Given the description of an element on the screen output the (x, y) to click on. 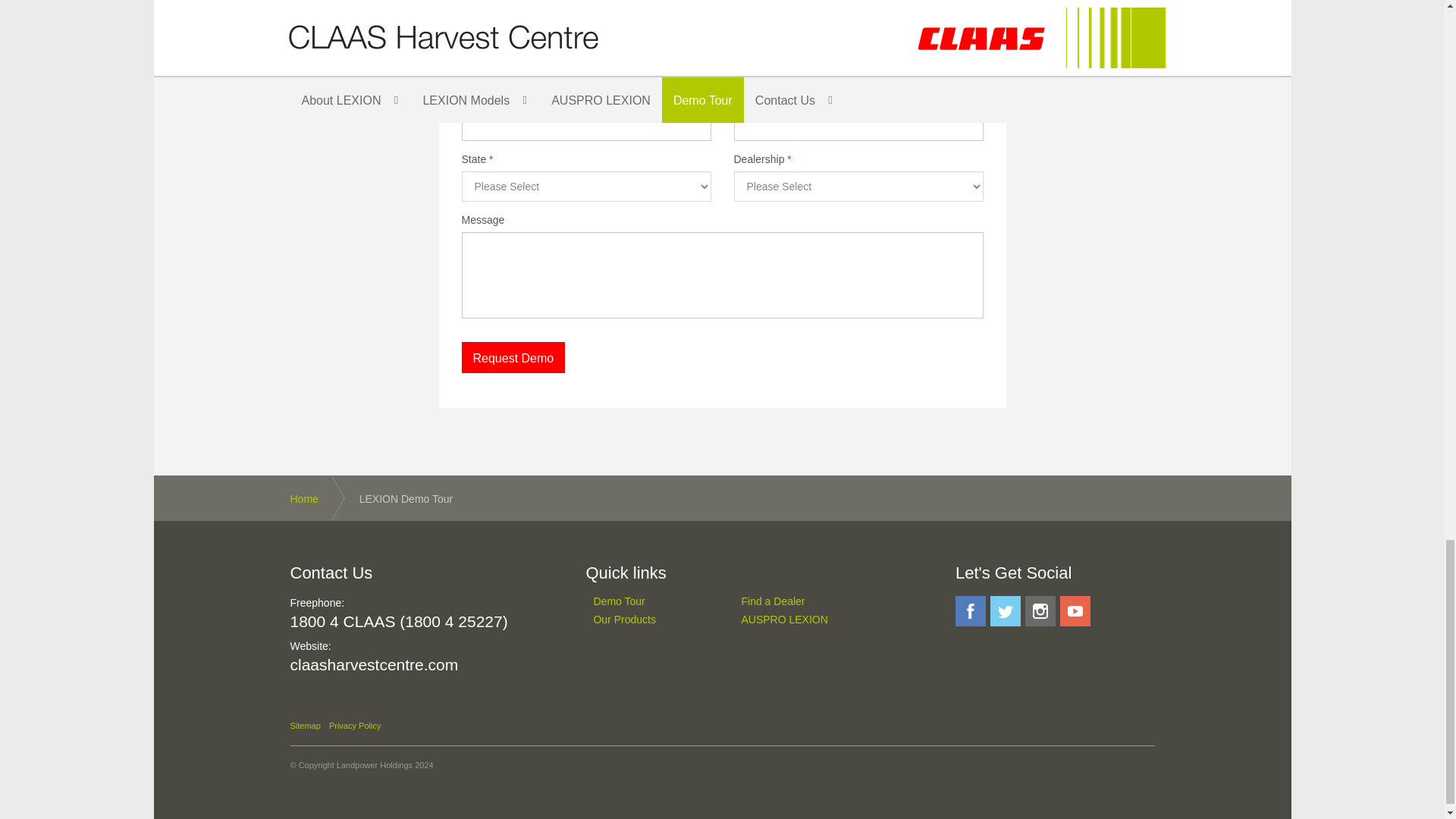
Landpower Holdings (374, 764)
Home (318, 497)
Privacy Policy (354, 725)
facebook (970, 611)
Landpower Holdings (374, 764)
instagram (1040, 611)
Request Demo (512, 357)
twitter (1005, 611)
claasharvestcentre.com (373, 664)
Sitemap (304, 725)
Find a Dealer (796, 601)
youtube (1074, 611)
AUSPRO LEXION (796, 619)
Demo Tour (647, 601)
Our Products (647, 619)
